Given the description of an element on the screen output the (x, y) to click on. 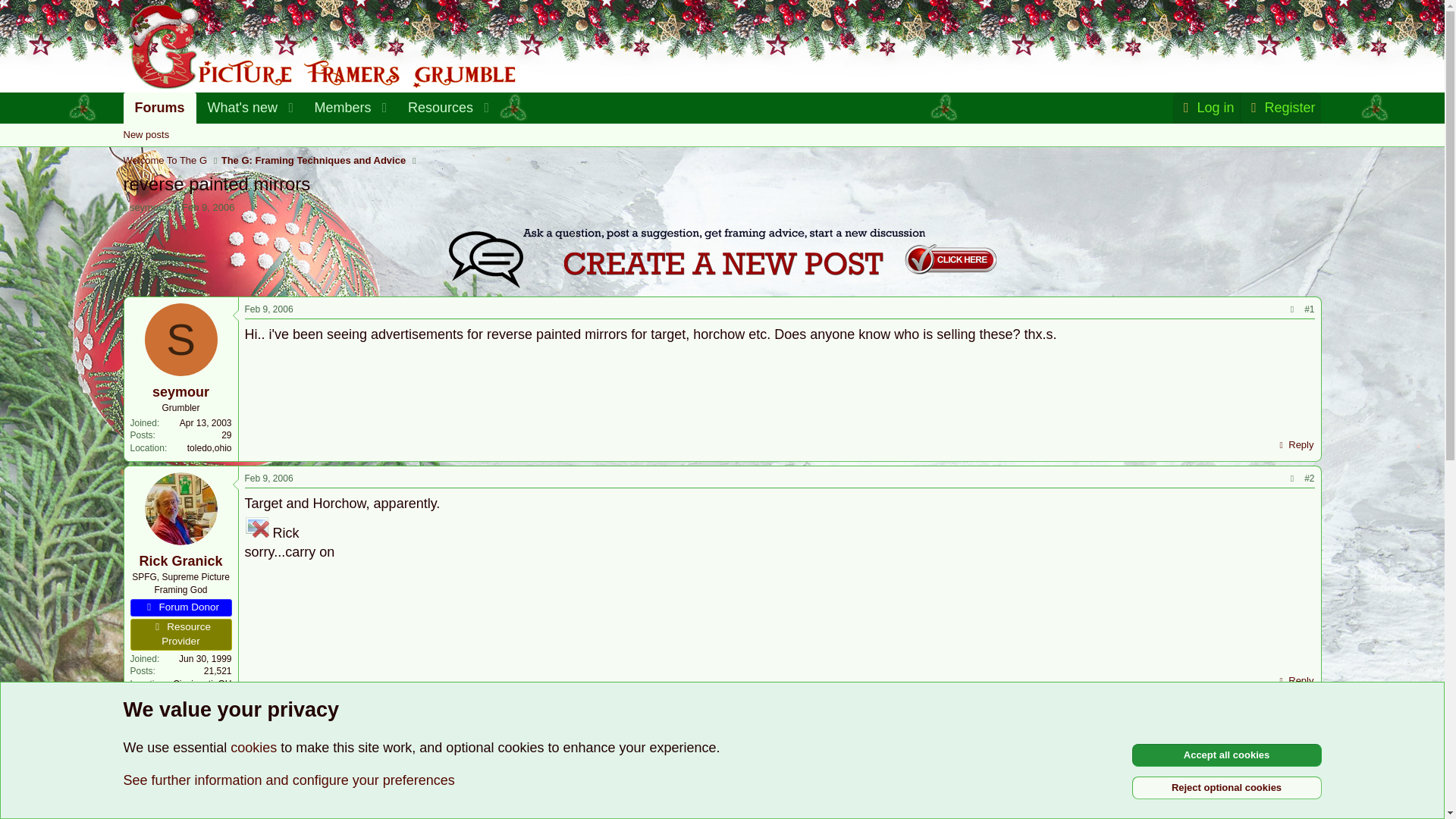
Reply, quoting this message (1294, 444)
Log in (1206, 107)
New posts (145, 134)
Register (1280, 107)
Forums (158, 107)
Feb 9, 2006 at 6:07 PM (268, 478)
Reply, quoting this message (1294, 680)
Feb 9, 2006 (208, 206)
Members (337, 107)
S (180, 339)
New posts (721, 134)
Feb 9, 2006 at 3:17 PM (268, 308)
Feb 9, 2006 (268, 308)
Welcome To The G (164, 160)
